Given the description of an element on the screen output the (x, y) to click on. 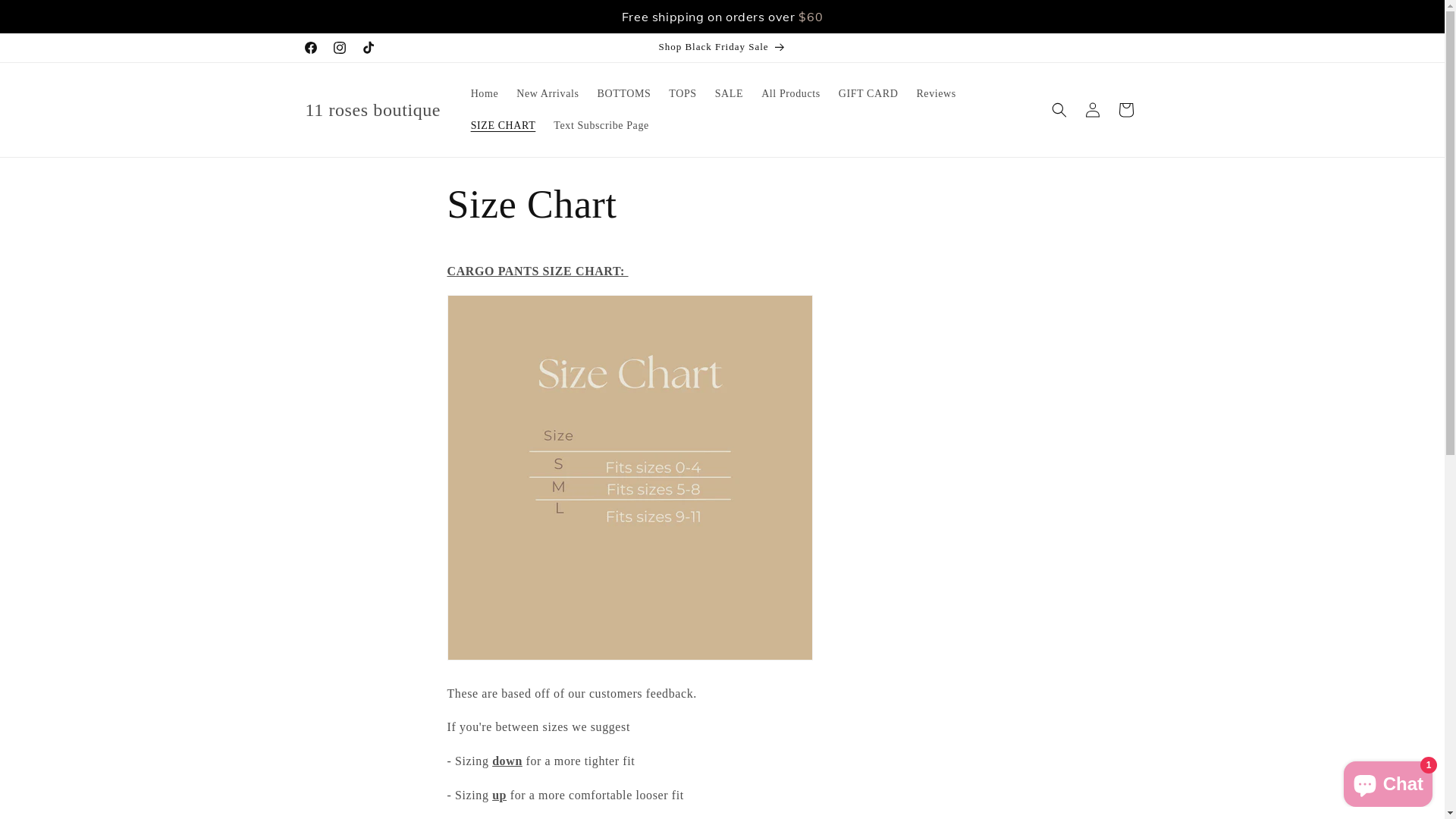
Text Subscribe Page Element type: text (601, 125)
All Products Element type: text (790, 93)
SALE Element type: text (729, 93)
Home Element type: text (484, 93)
Shop Black Friday Sale Element type: text (721, 47)
Log in Element type: text (1091, 109)
Shopify online store chat Element type: hover (1388, 780)
GIFT CARD Element type: text (868, 93)
New Arrivals Element type: text (547, 93)
TOPS Element type: text (682, 93)
SIZE CHART Element type: text (503, 125)
Facebook Element type: text (309, 47)
TikTok Element type: text (367, 47)
Cart Element type: text (1125, 109)
BOTTOMS Element type: text (624, 93)
Reviews Element type: text (935, 93)
Instagram Element type: text (338, 47)
11 roses boutique Element type: text (372, 110)
